Given the description of an element on the screen output the (x, y) to click on. 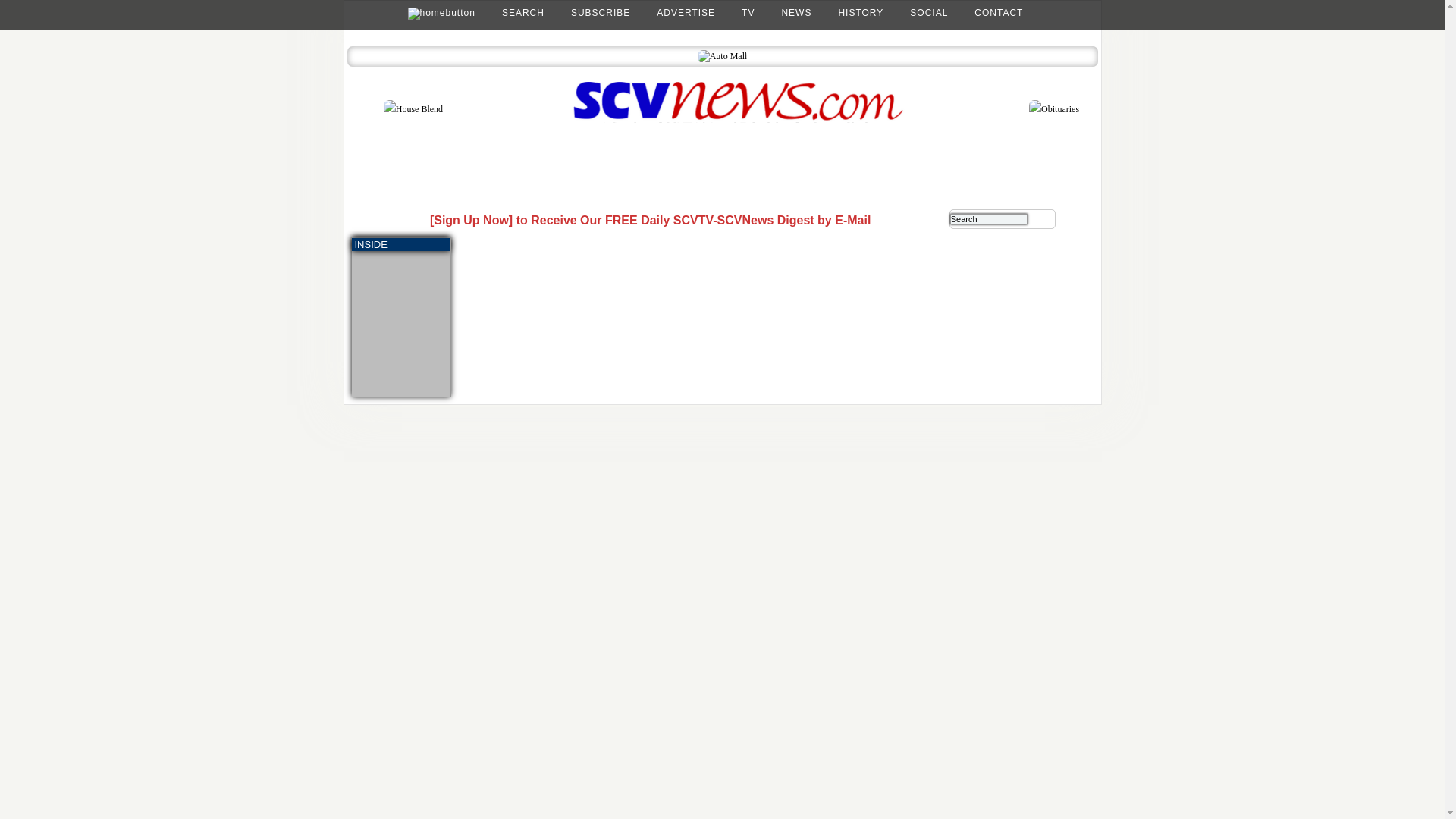
House Blend (413, 108)
NEWS (795, 12)
Search (988, 218)
Obituaries (1053, 108)
Auto Mall (722, 55)
SEARCH (523, 12)
TV (747, 12)
SUBSCRIBE (600, 12)
ADVERTISE (685, 12)
